Given the description of an element on the screen output the (x, y) to click on. 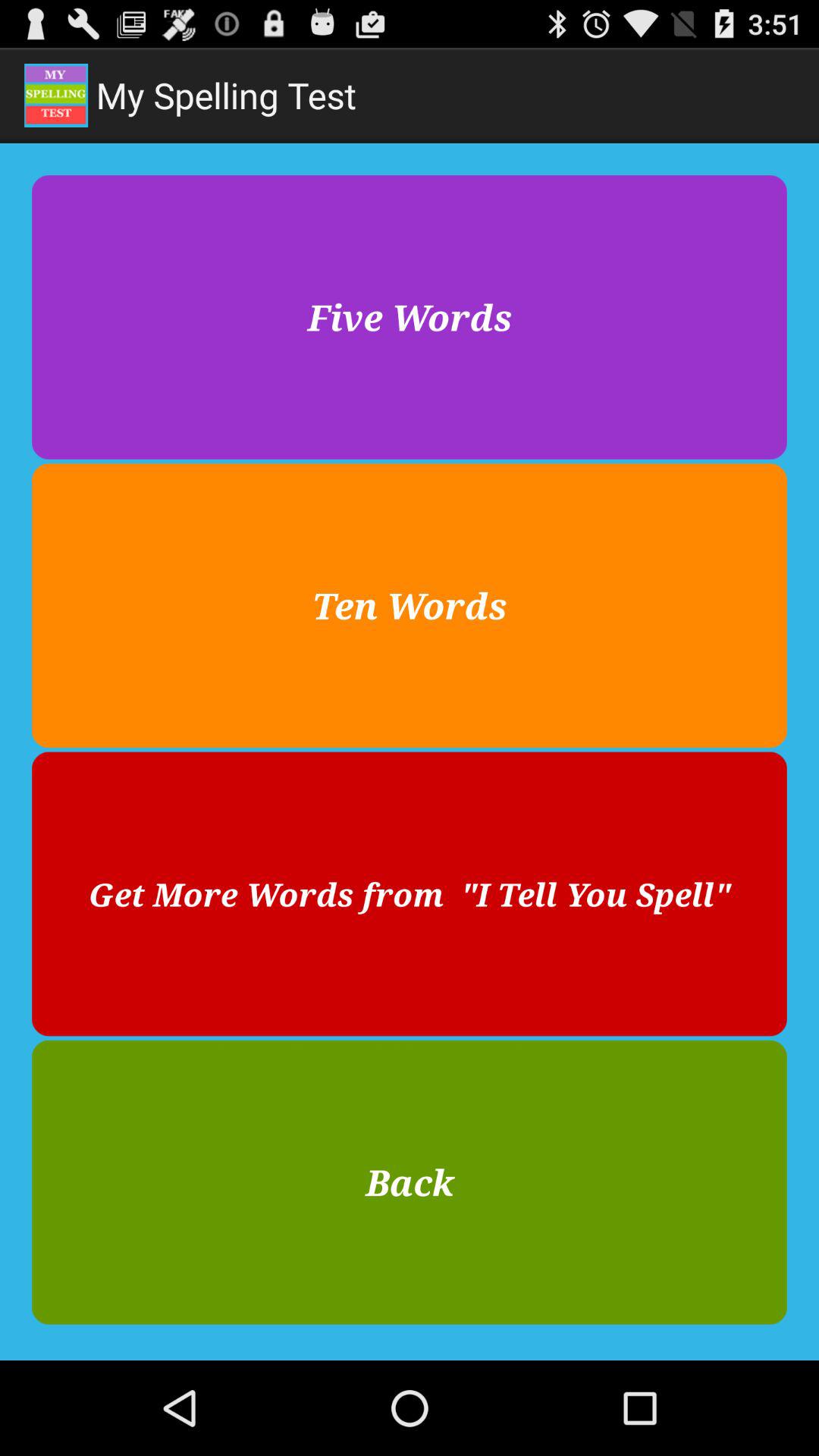
click item at the bottom (409, 1182)
